Given the description of an element on the screen output the (x, y) to click on. 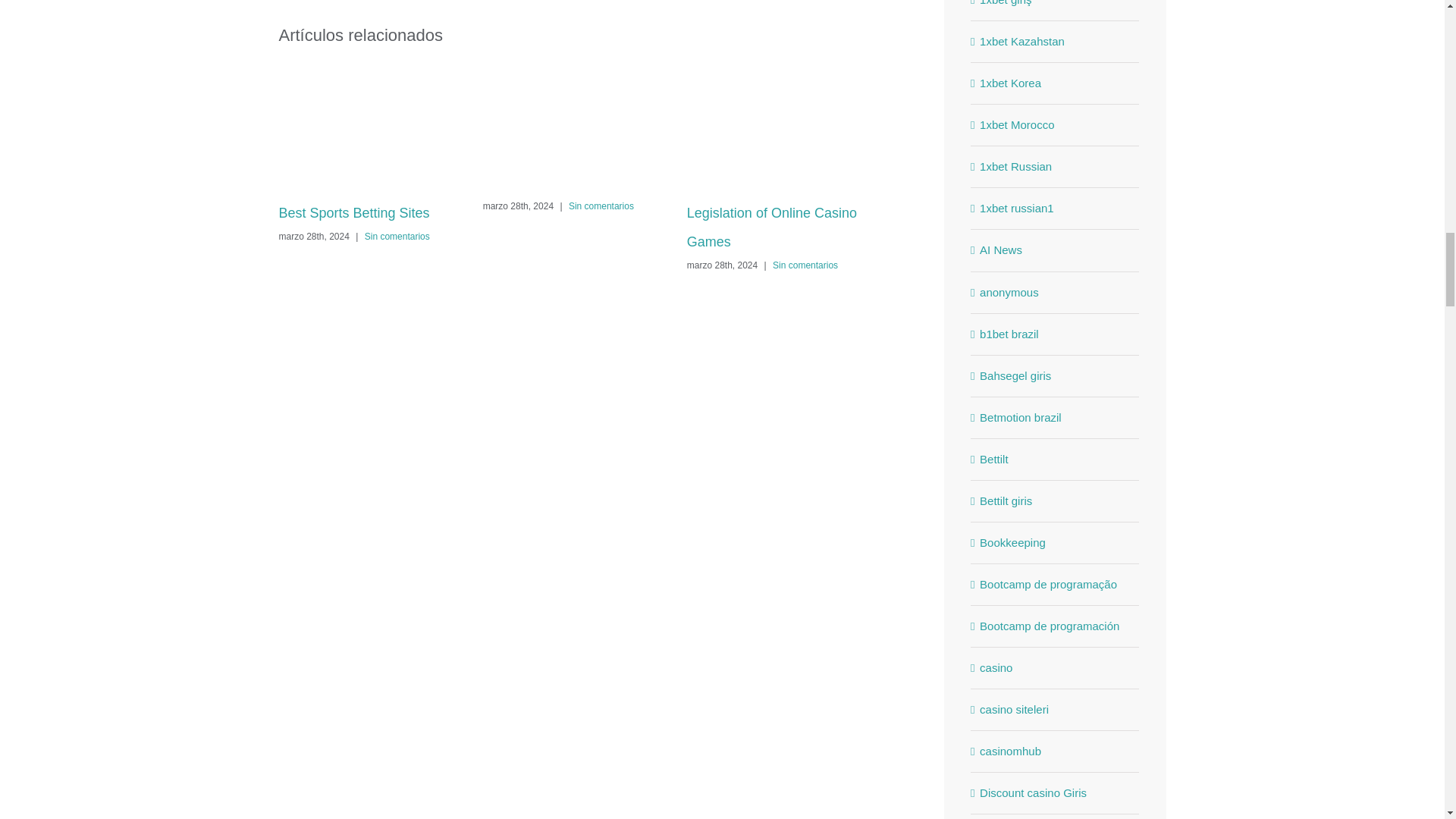
Legislation of Online Casino Games (772, 227)
Sin comentarios (397, 235)
Best Sports Betting Sites (354, 212)
Sin comentarios (601, 205)
Best Sports Betting Sites (354, 212)
